Given the description of an element on the screen output the (x, y) to click on. 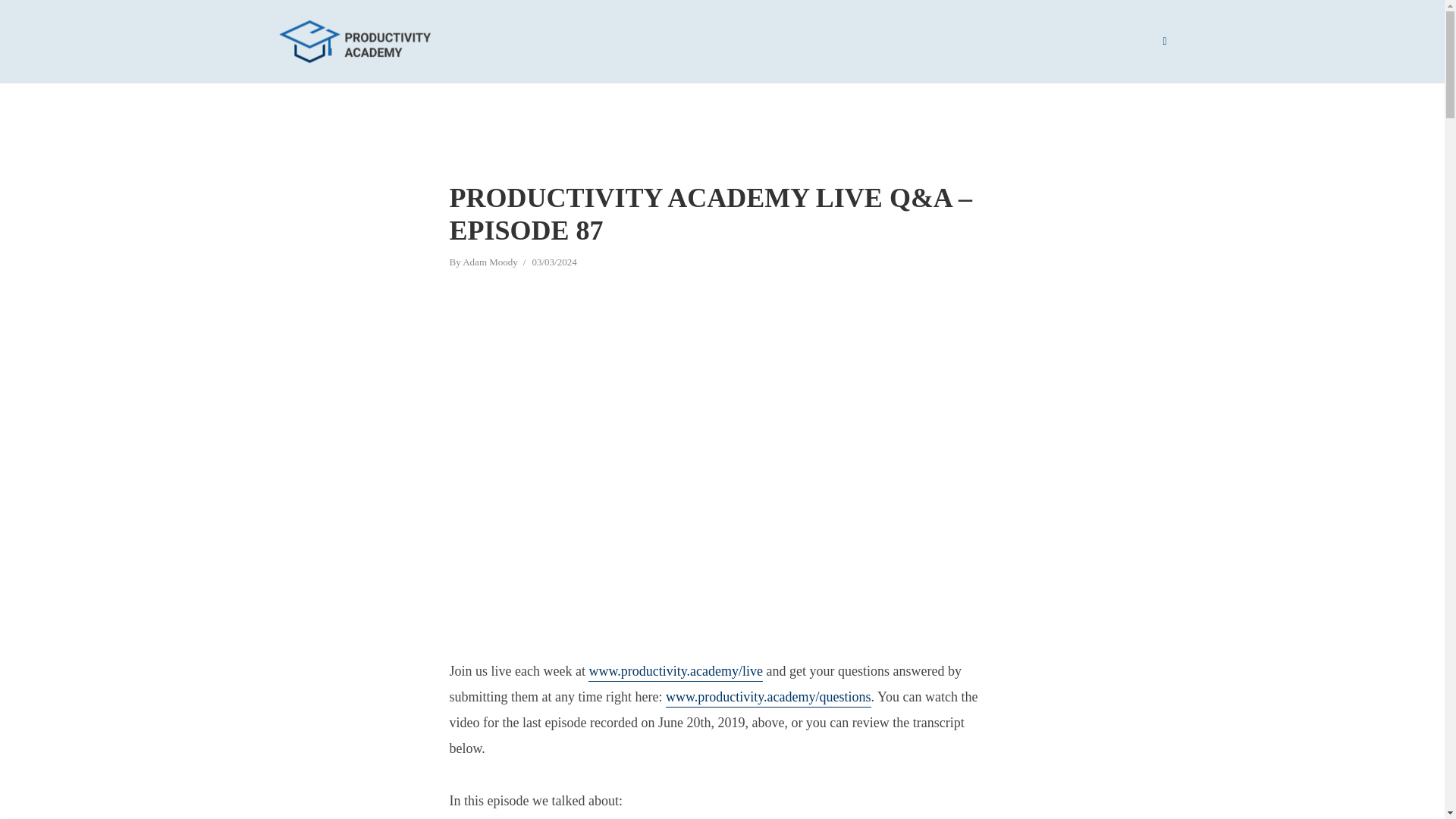
Adam Moody (490, 263)
